Given the description of an element on the screen output the (x, y) to click on. 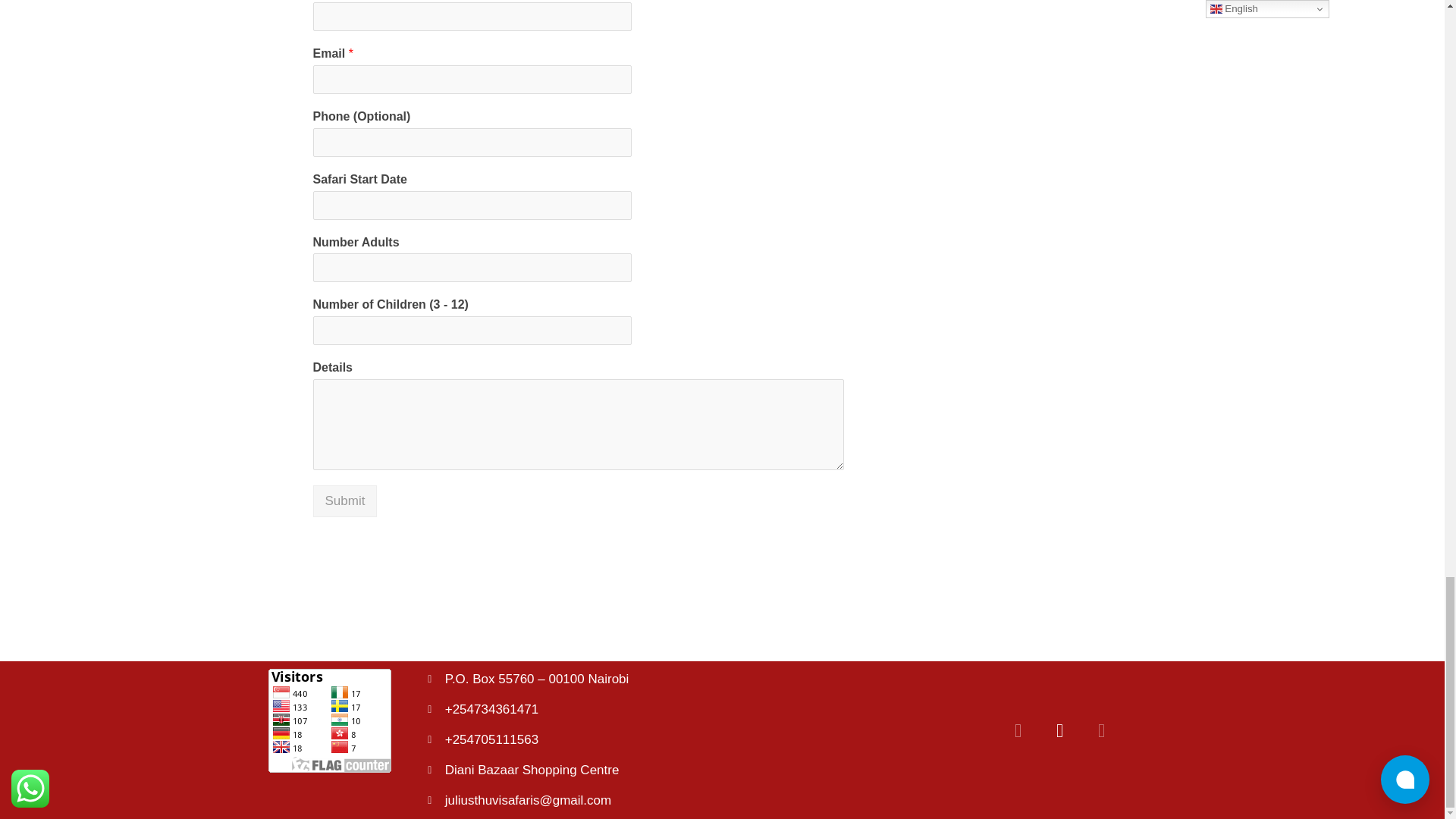
Submit (345, 500)
